Given the description of an element on the screen output the (x, y) to click on. 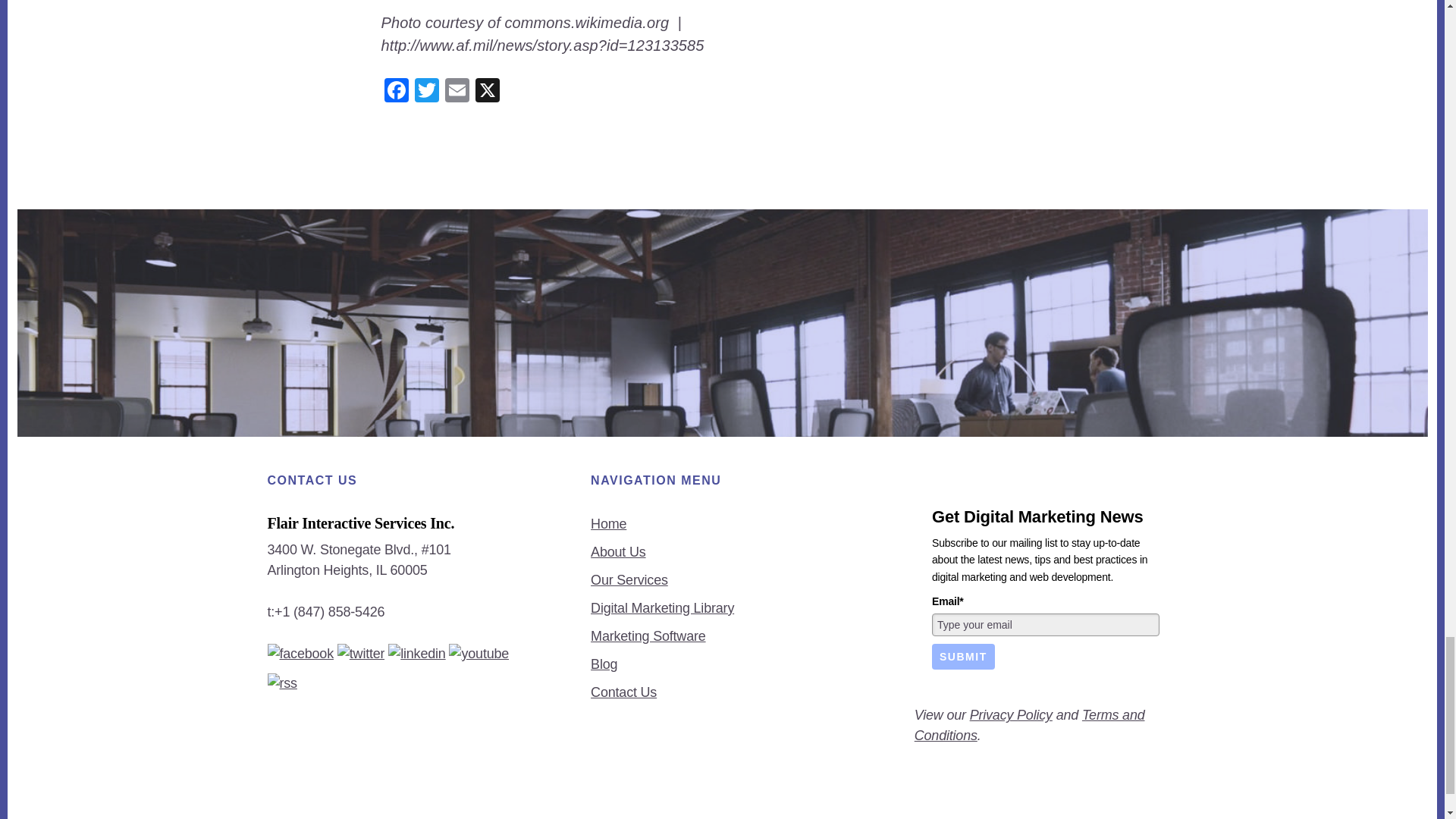
Facebook (395, 91)
Email (456, 91)
Email (456, 91)
Twitter (425, 91)
X (486, 91)
Facebook (395, 91)
X (486, 91)
Twitter (425, 91)
